Given the description of an element on the screen output the (x, y) to click on. 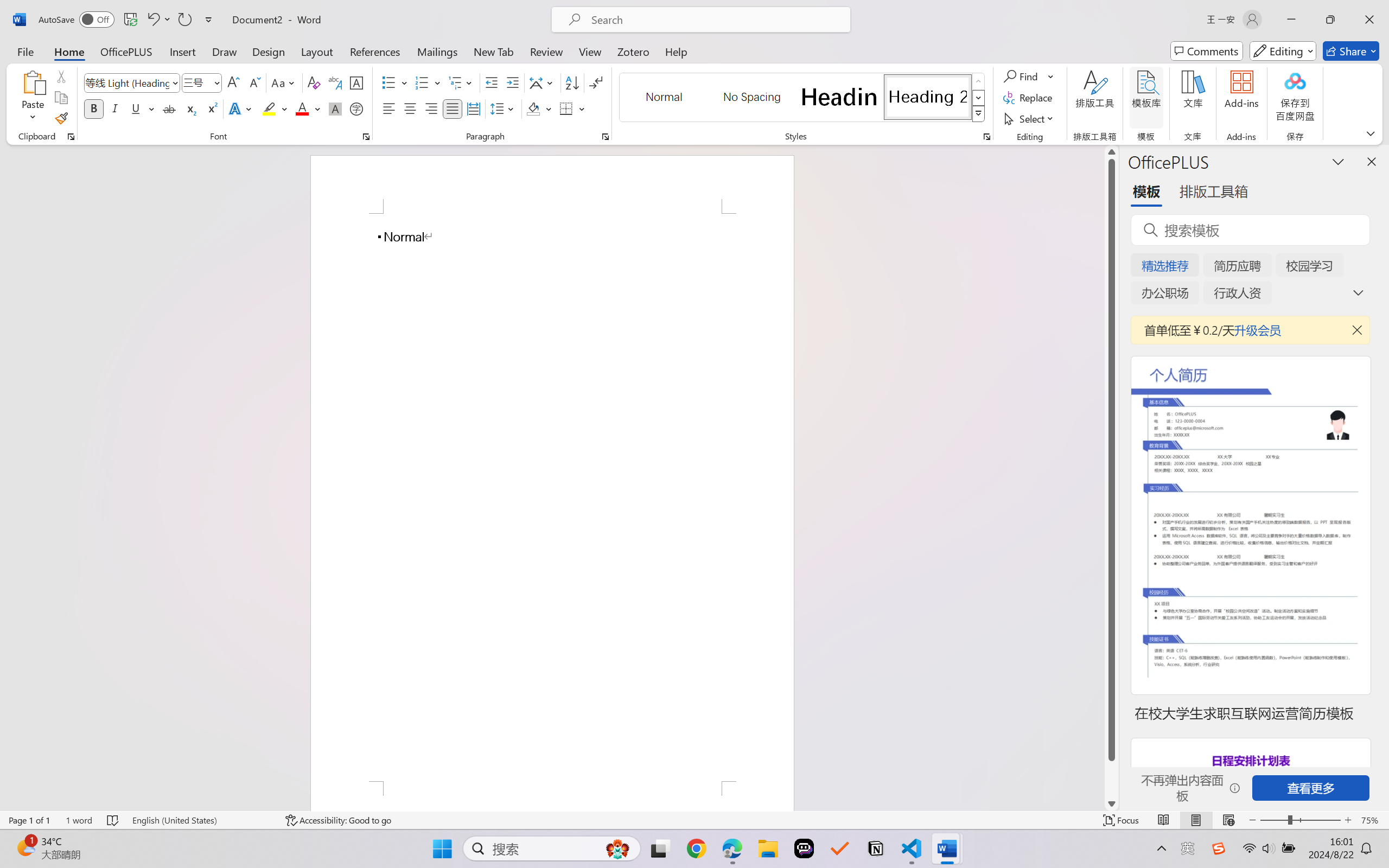
Italic (115, 108)
Help (675, 51)
Page Number Page 1 of 1 (29, 819)
Format Painter (60, 118)
Paragraph... (605, 136)
Borders (571, 108)
Multilevel List (461, 82)
Subscript (190, 108)
Font Color Red (302, 108)
Undo Typing (158, 19)
Row up (978, 81)
Bullets (388, 82)
Numbering (421, 82)
